Given the description of an element on the screen output the (x, y) to click on. 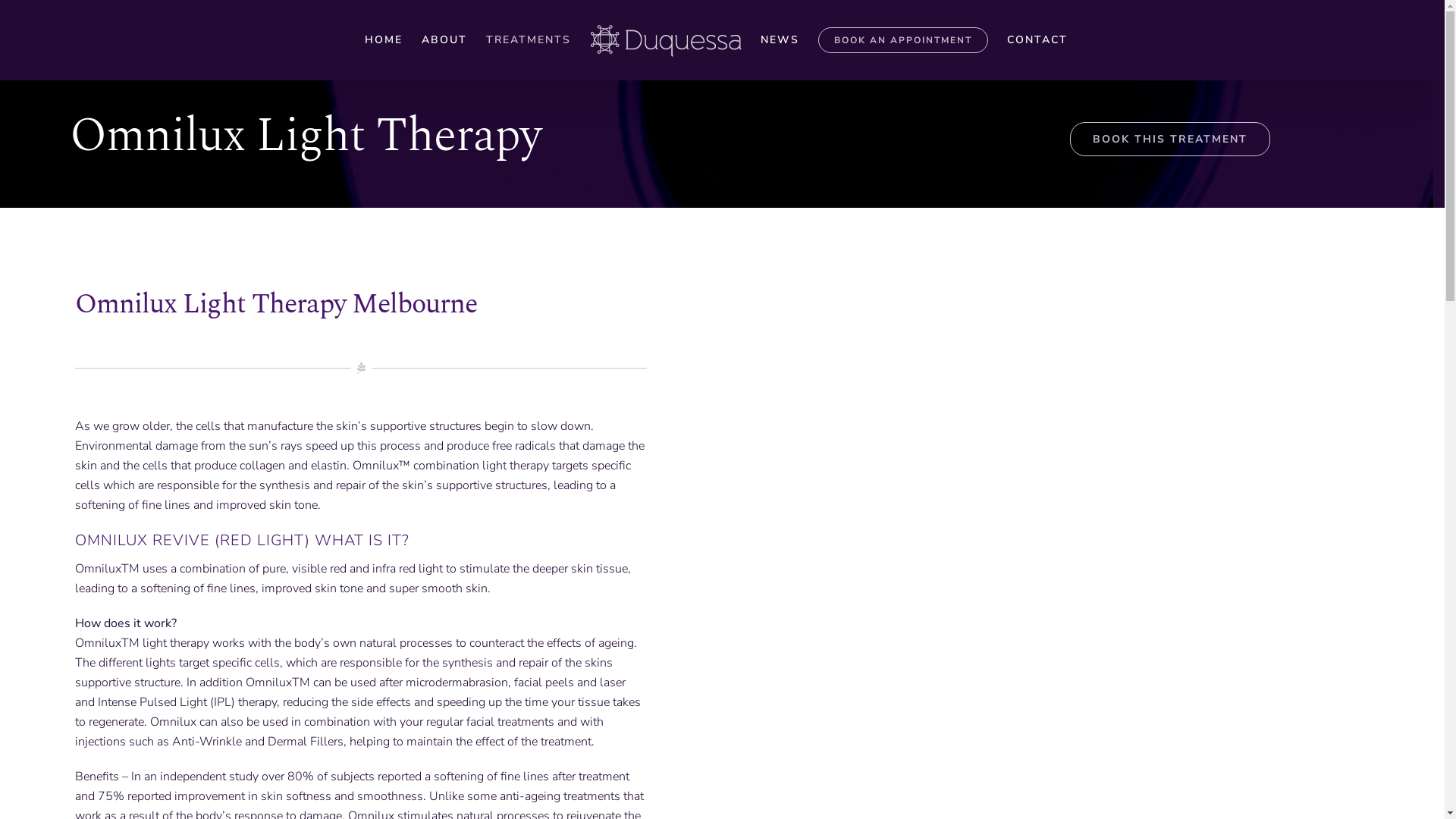
ABOUT Element type: text (444, 40)
NEWS Element type: text (778, 40)
BOOK AN APPOINTMENT Element type: text (902, 40)
BOOK THIS TREATMENT Element type: text (1170, 139)
HOME Element type: text (382, 40)
CONTACT Element type: text (1037, 40)
TREATMENTS Element type: text (527, 40)
